Given the description of an element on the screen output the (x, y) to click on. 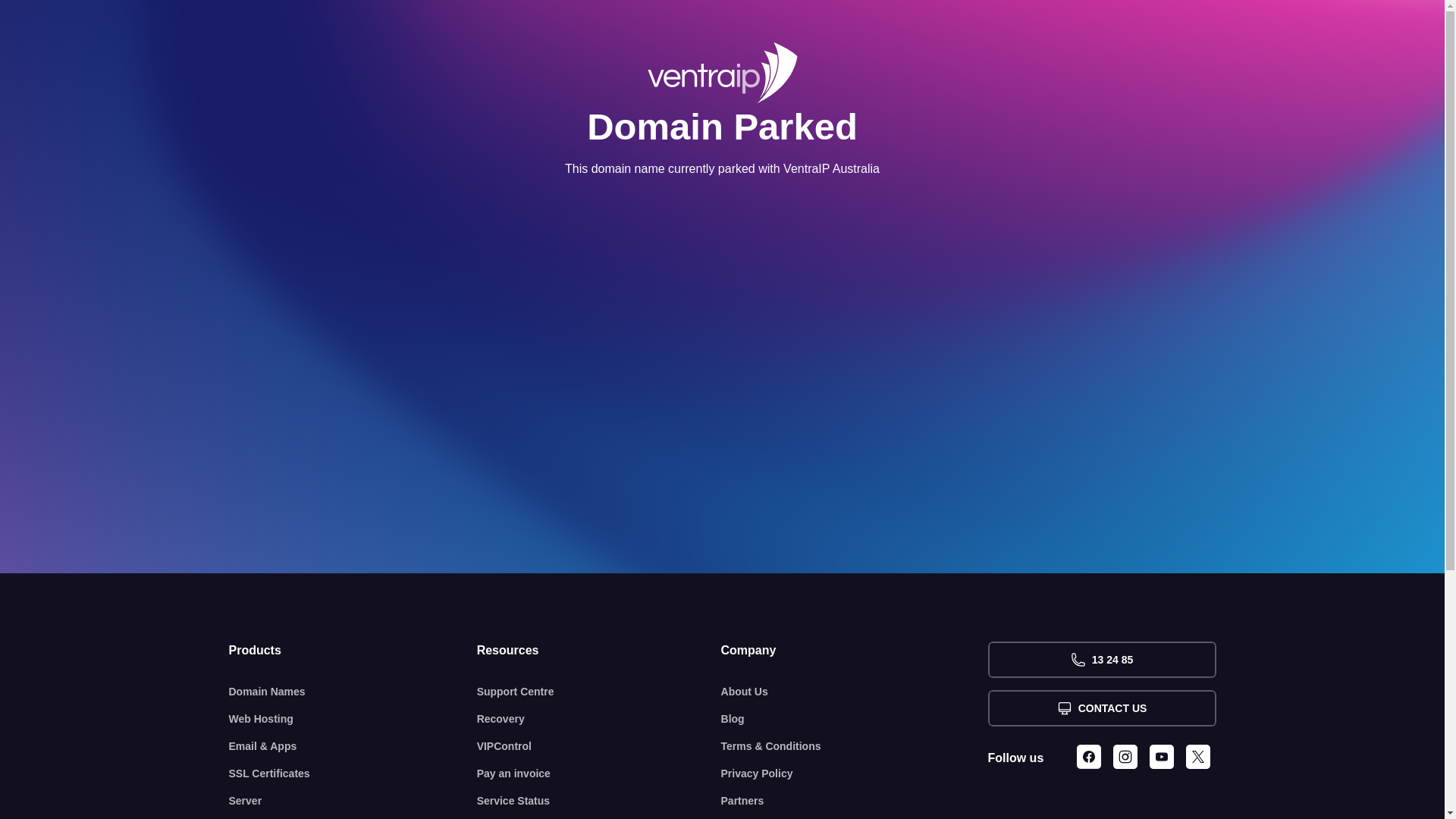
Partners Element type: text (854, 800)
Blog Element type: text (854, 718)
Recovery Element type: text (598, 718)
13 24 85 Element type: text (1101, 659)
CONTACT US Element type: text (1101, 708)
Server Element type: text (352, 800)
Web Hosting Element type: text (352, 718)
VIPControl Element type: text (598, 745)
Email & Apps Element type: text (352, 745)
Terms & Conditions Element type: text (854, 745)
Pay an invoice Element type: text (598, 773)
SSL Certificates Element type: text (352, 773)
Privacy Policy Element type: text (854, 773)
About Us Element type: text (854, 691)
Domain Names Element type: text (352, 691)
Service Status Element type: text (598, 800)
Support Centre Element type: text (598, 691)
